Given the description of an element on the screen output the (x, y) to click on. 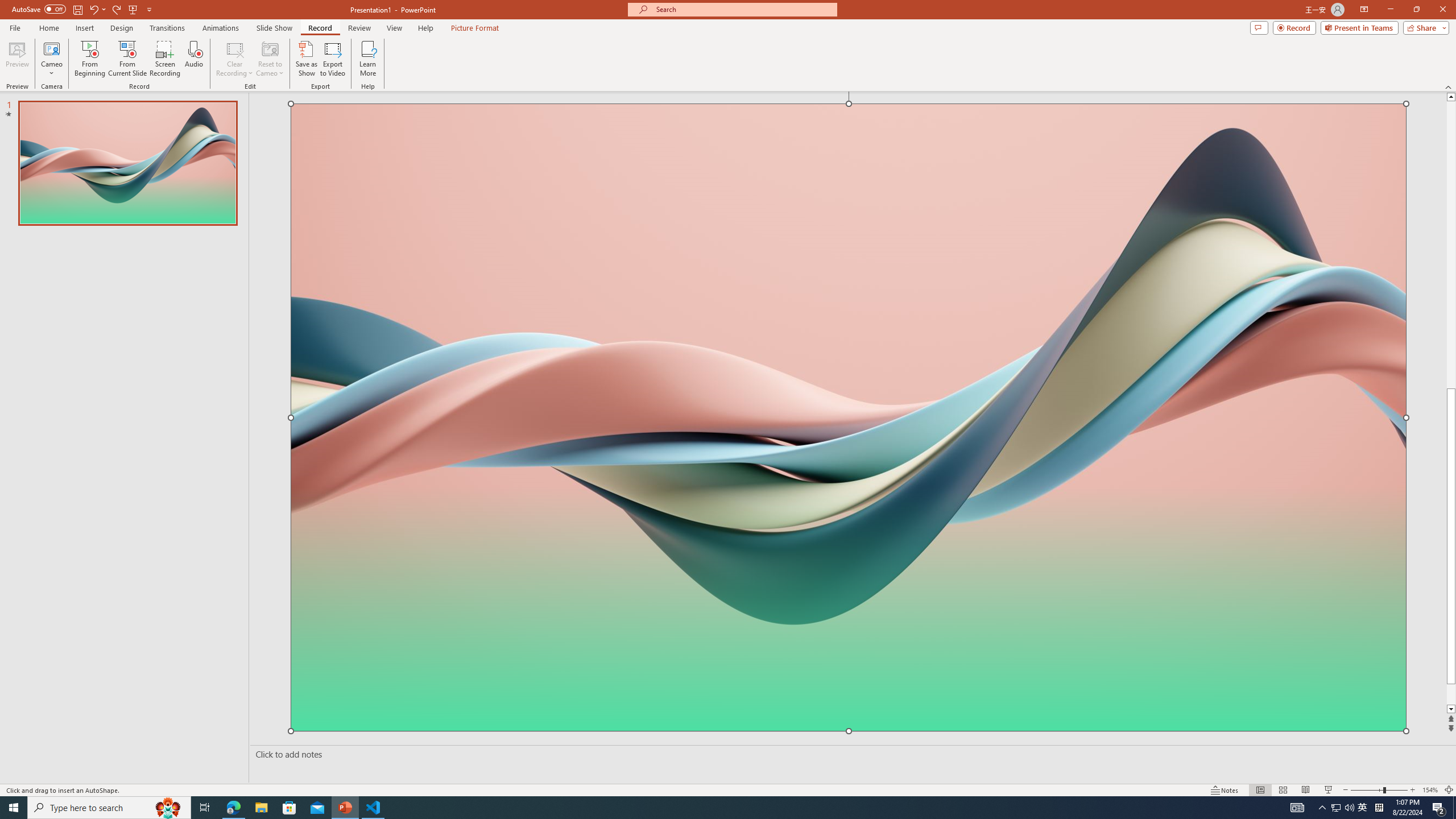
Wavy 3D art (848, 417)
Zoom 154% (1430, 790)
Picture Format (475, 28)
